Given the description of an element on the screen output the (x, y) to click on. 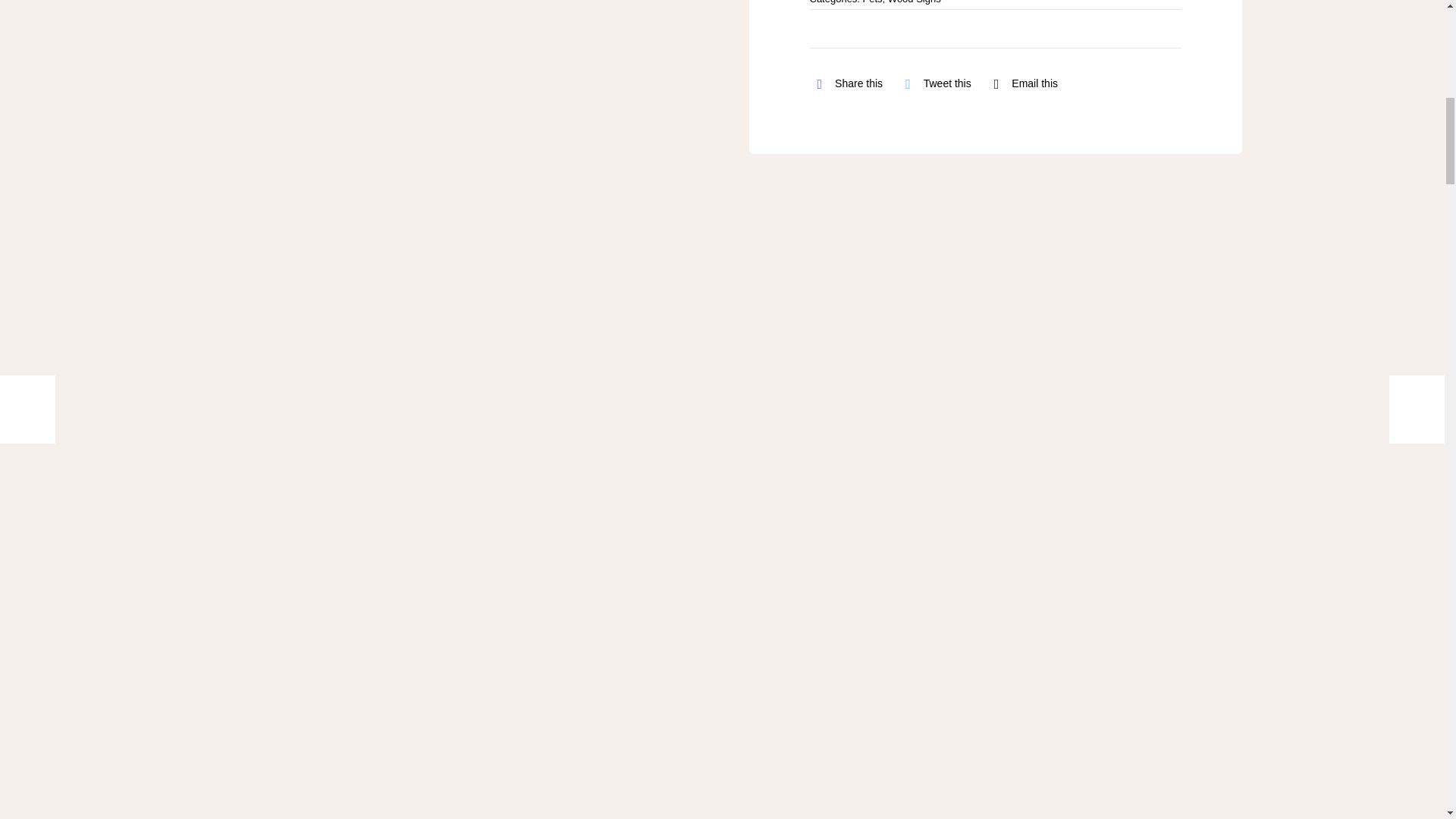
Email (1022, 83)
Facebook (846, 83)
Twitter (934, 83)
